Given the description of an element on the screen output the (x, y) to click on. 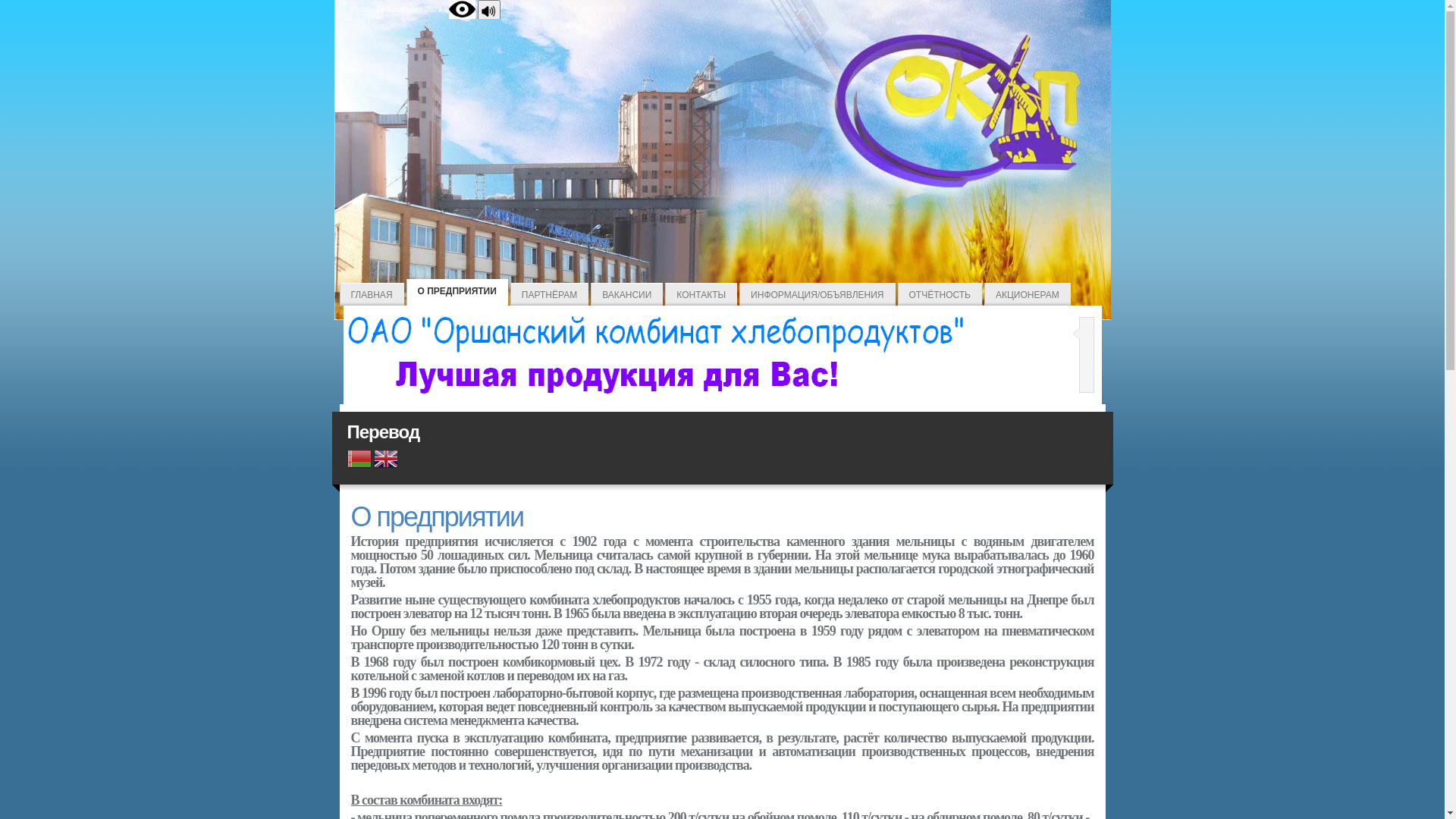
Belarusian Element type: hover (359, 460)
Home Element type: hover (721, 394)
English Element type: hover (385, 460)
